Given the description of an element on the screen output the (x, y) to click on. 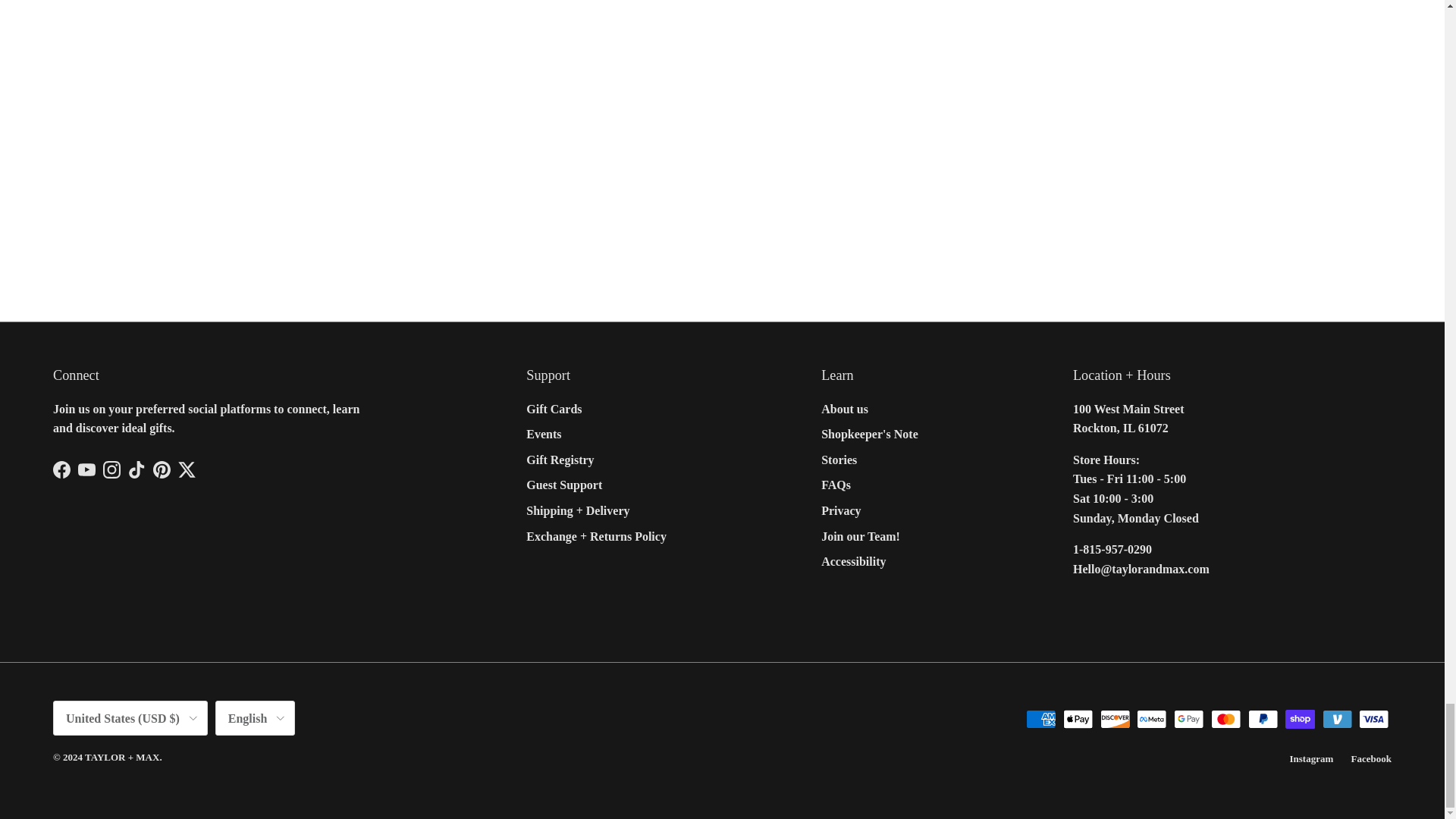
Meta Pay (1151, 719)
Google Pay (1188, 719)
American Express (1040, 719)
PayPal (1262, 719)
Discover (1114, 719)
Mastercard (1225, 719)
Apple Pay (1077, 719)
